Given the description of an element on the screen output the (x, y) to click on. 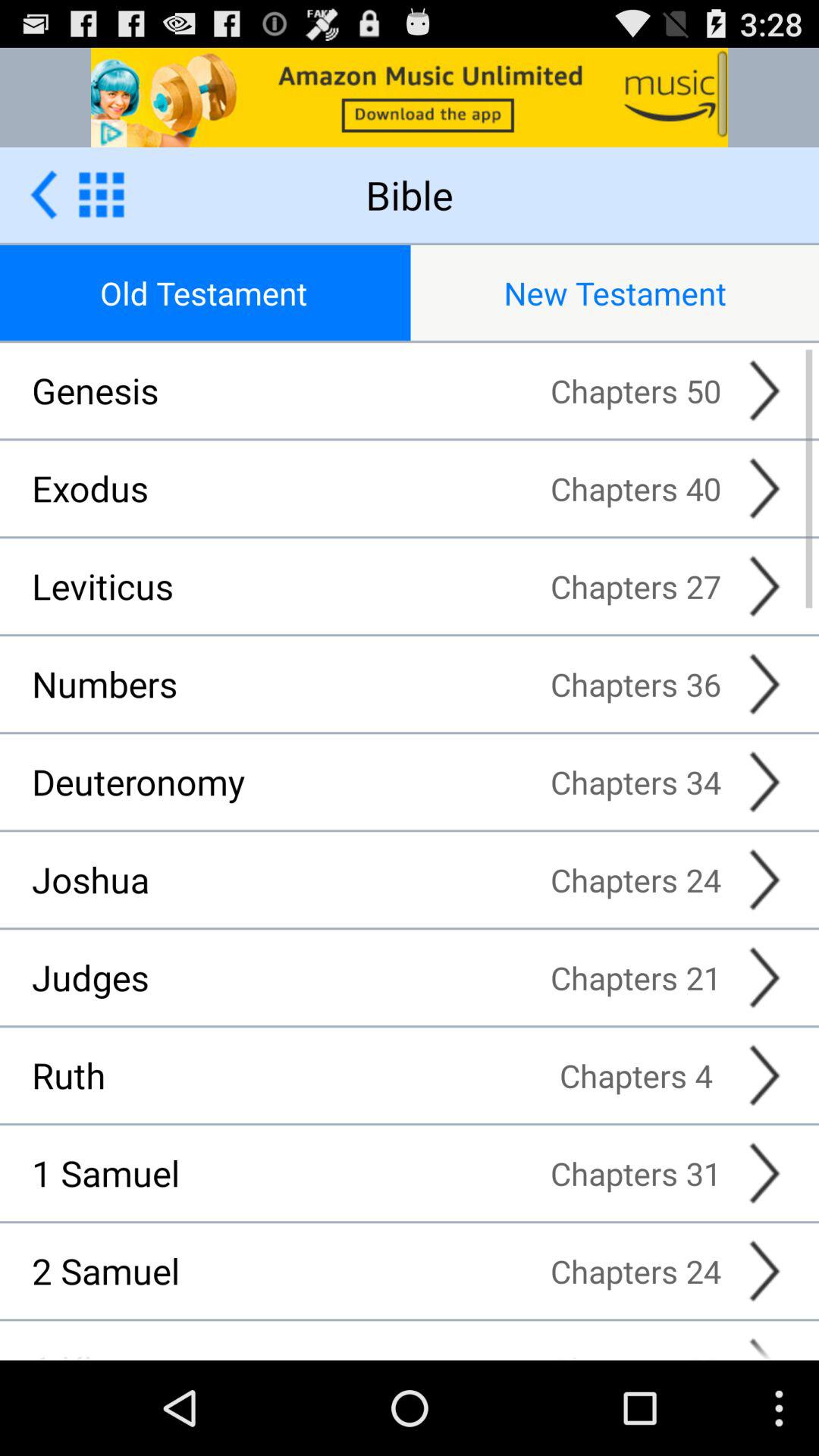
open advertisement (409, 97)
